Given the description of an element on the screen output the (x, y) to click on. 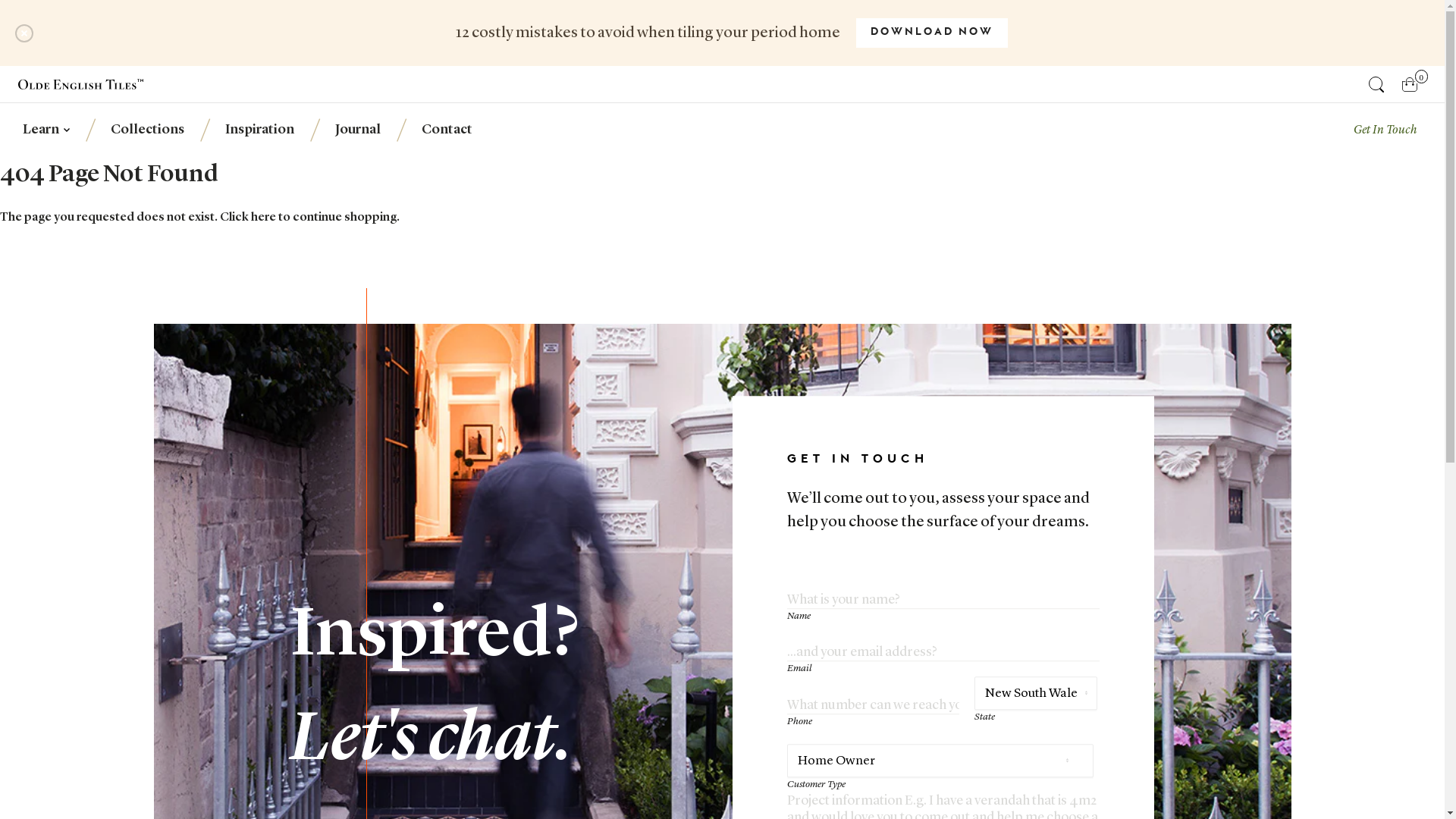
Journal Element type: text (356, 129)
Inspiration Element type: text (259, 129)
0 Element type: text (1409, 83)
DOWNLOAD NOW Element type: text (931, 32)
Collections Element type: text (146, 129)
Contact Element type: text (446, 129)
here Element type: text (263, 217)
